Given the description of an element on the screen output the (x, y) to click on. 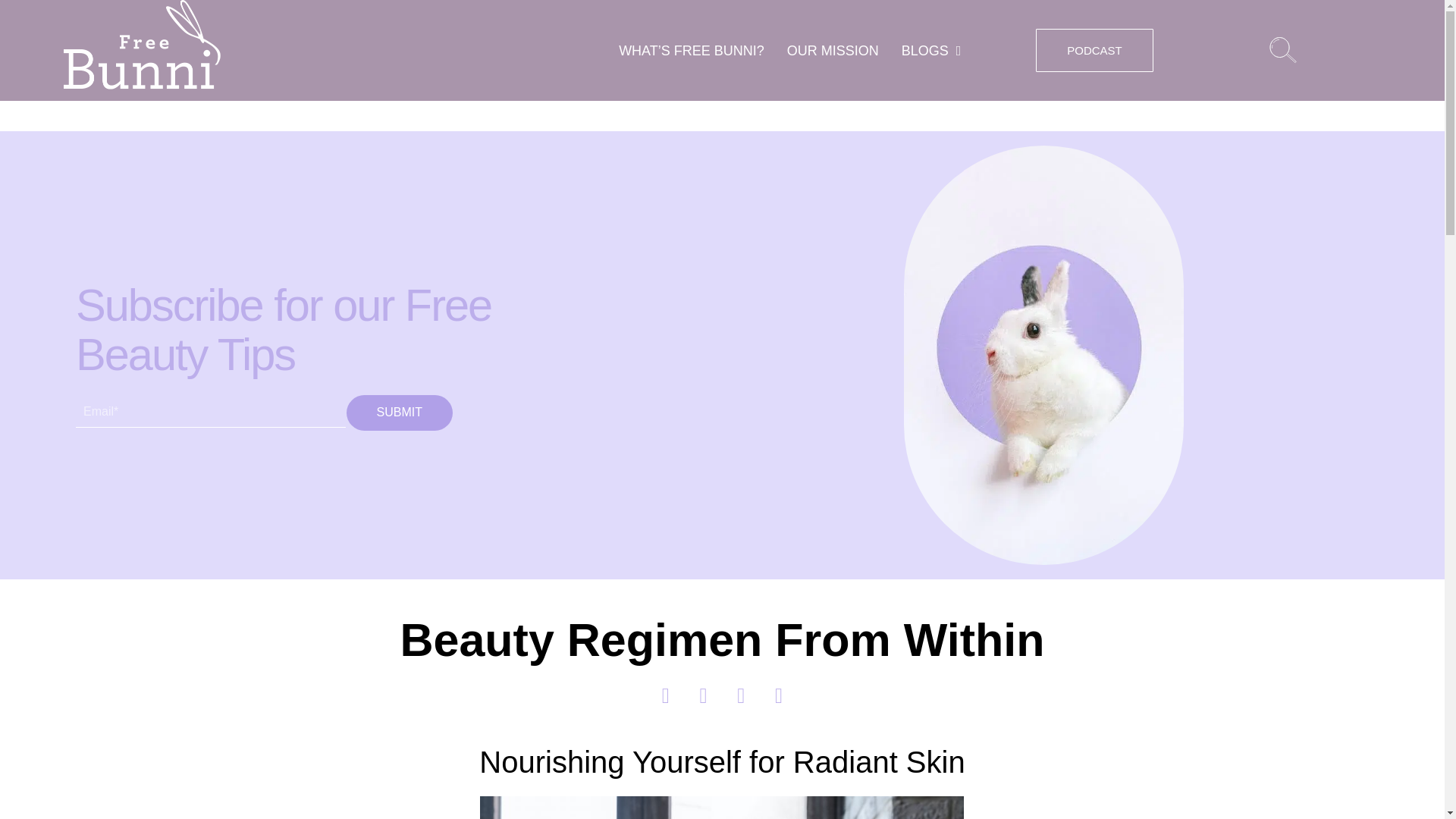
PODCAST (1094, 50)
BLOGS (930, 50)
OUR MISSION (832, 50)
